Given the description of an element on the screen output the (x, y) to click on. 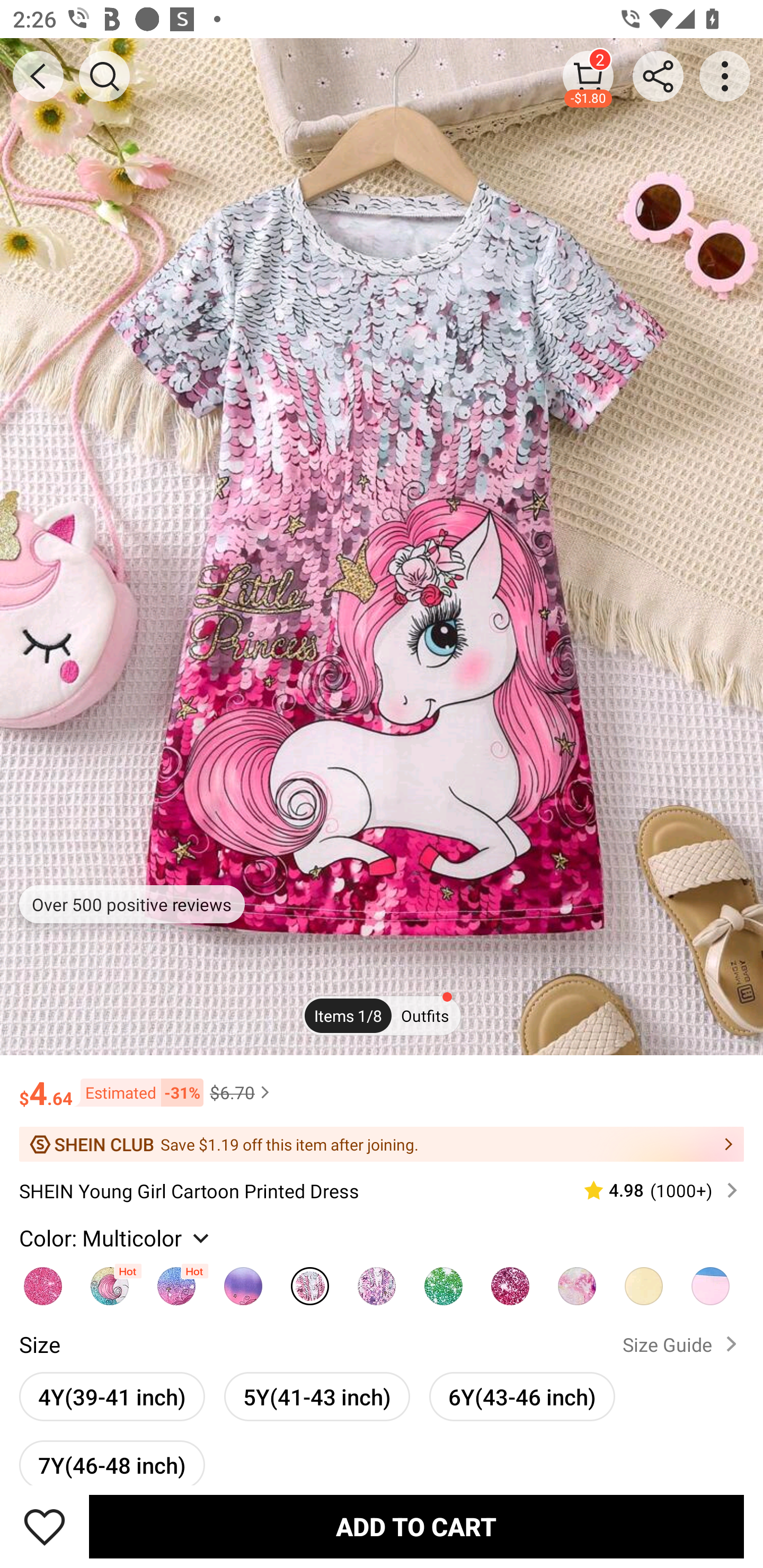
BACK (38, 75)
2 -$1.80 (588, 75)
Items 1/8 (347, 1015)
Outfits (424, 1015)
Estimated -31% (137, 1092)
$6.70 (241, 1091)
Save $1.19 off this item after joining. (381, 1144)
4.98 (1000‎+) (653, 1189)
Color: Multicolor (116, 1237)
Pink (42, 1280)
Multicolor (109, 1280)
Multicolor (176, 1280)
Multicolor (242, 1280)
Multicolor (309, 1280)
Multicolor (376, 1280)
Multicolor (443, 1280)
Multicolor (509, 1280)
Multicolor (576, 1280)
Multicolor (643, 1280)
Multicolor (710, 1280)
Size (39, 1344)
Size Guide (682, 1344)
4Y(39-41 inch) 4Y(39-41 inch)unselected option (112, 1396)
5Y(41-43 inch) 5Y(41-43 inch)unselected option (317, 1396)
6Y(43-46 inch) 6Y(43-46 inch)unselected option (521, 1396)
7Y(46-48 inch) 7Y(46-48 inch)unselected option (112, 1462)
ADD TO CART (416, 1526)
Save (44, 1526)
